Given the description of an element on the screen output the (x, y) to click on. 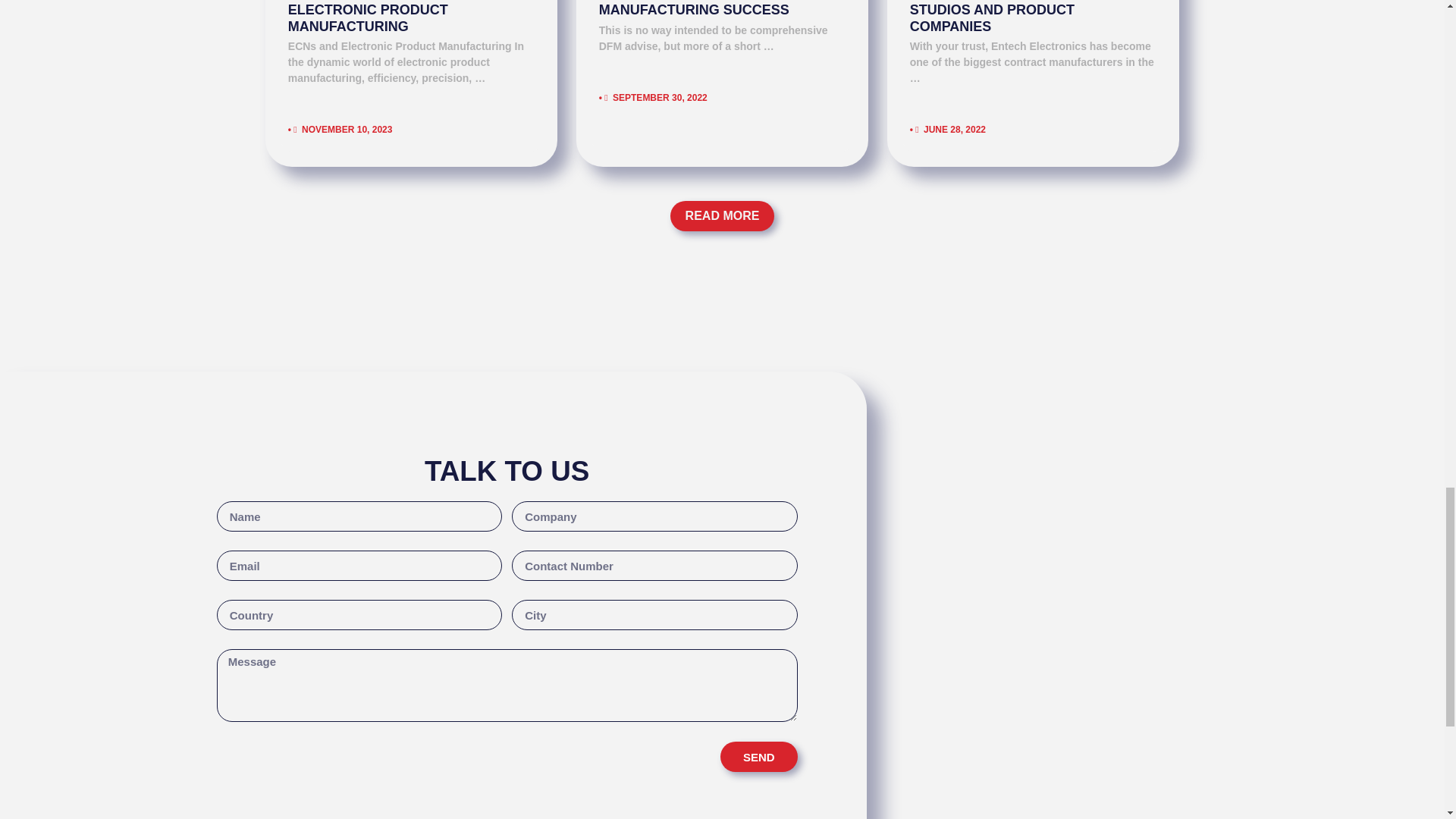
SEND (758, 757)
READ MORE (721, 215)
